Given the description of an element on the screen output the (x, y) to click on. 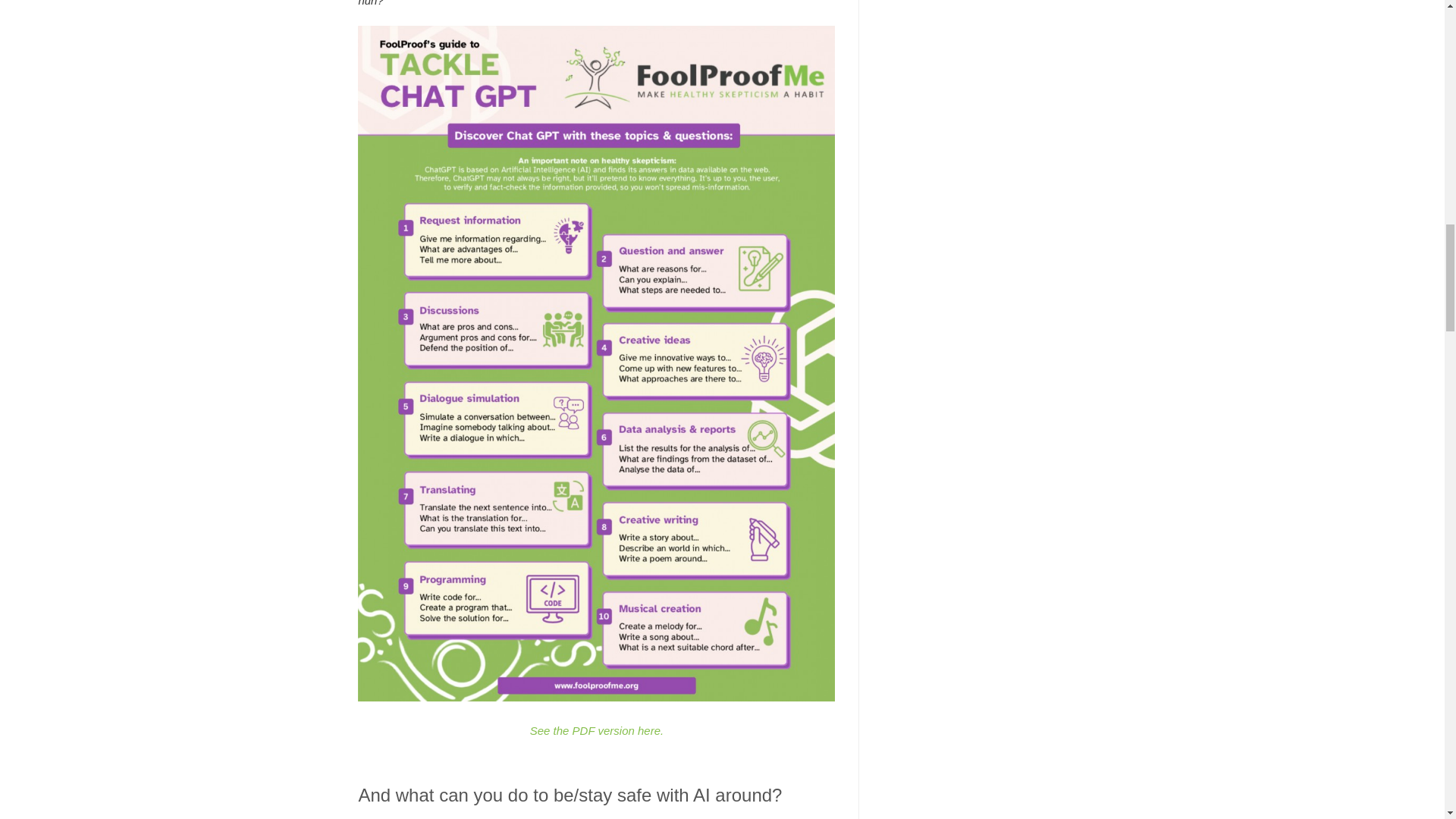
See the PDF version here. (596, 730)
